Given the description of an element on the screen output the (x, y) to click on. 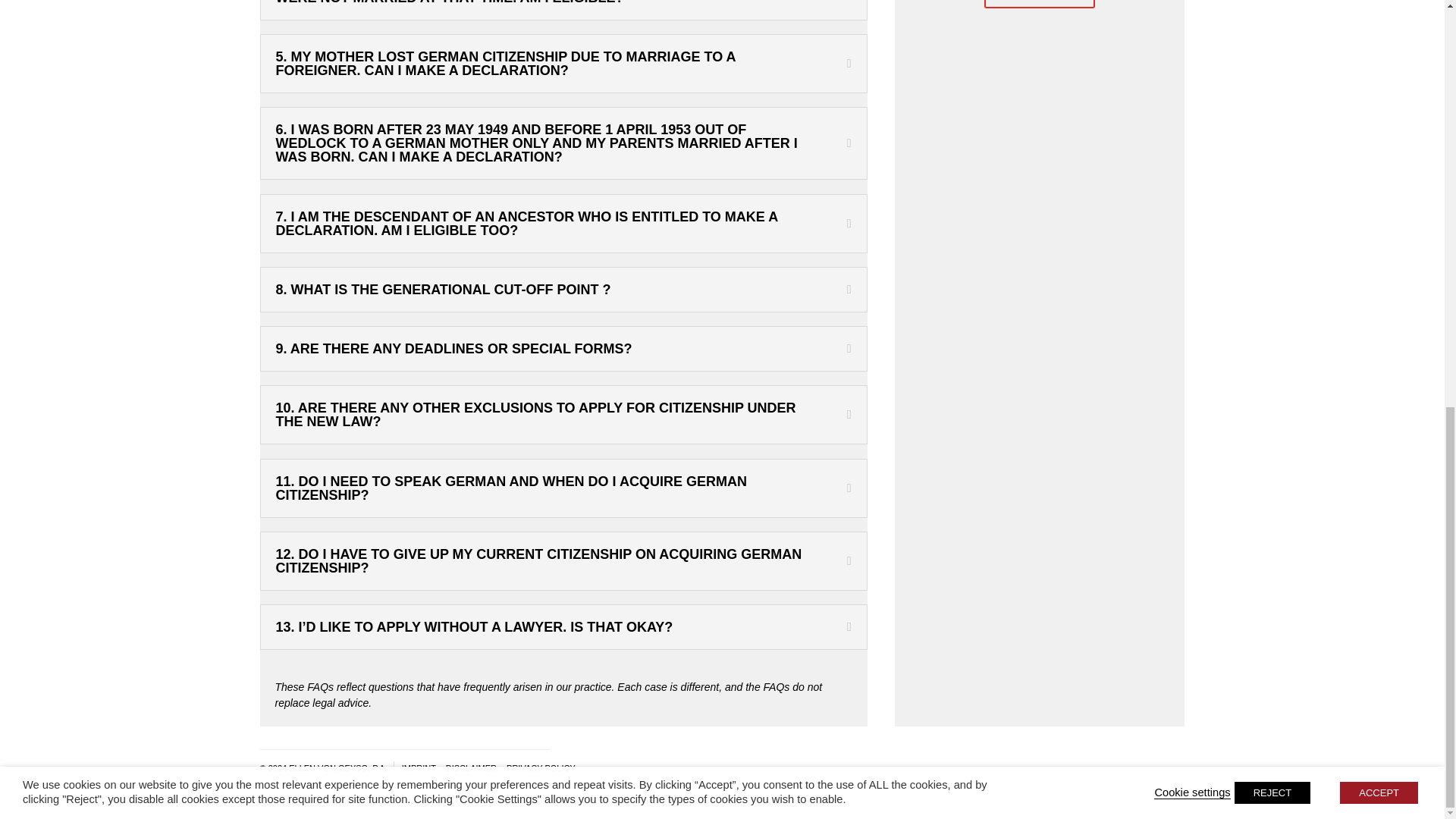
PRIVACY POLICY (537, 768)
IMPRINT (414, 768)
Contact me (1039, 4)
DISCLAIMER (467, 768)
